Given the description of an element on the screen output the (x, y) to click on. 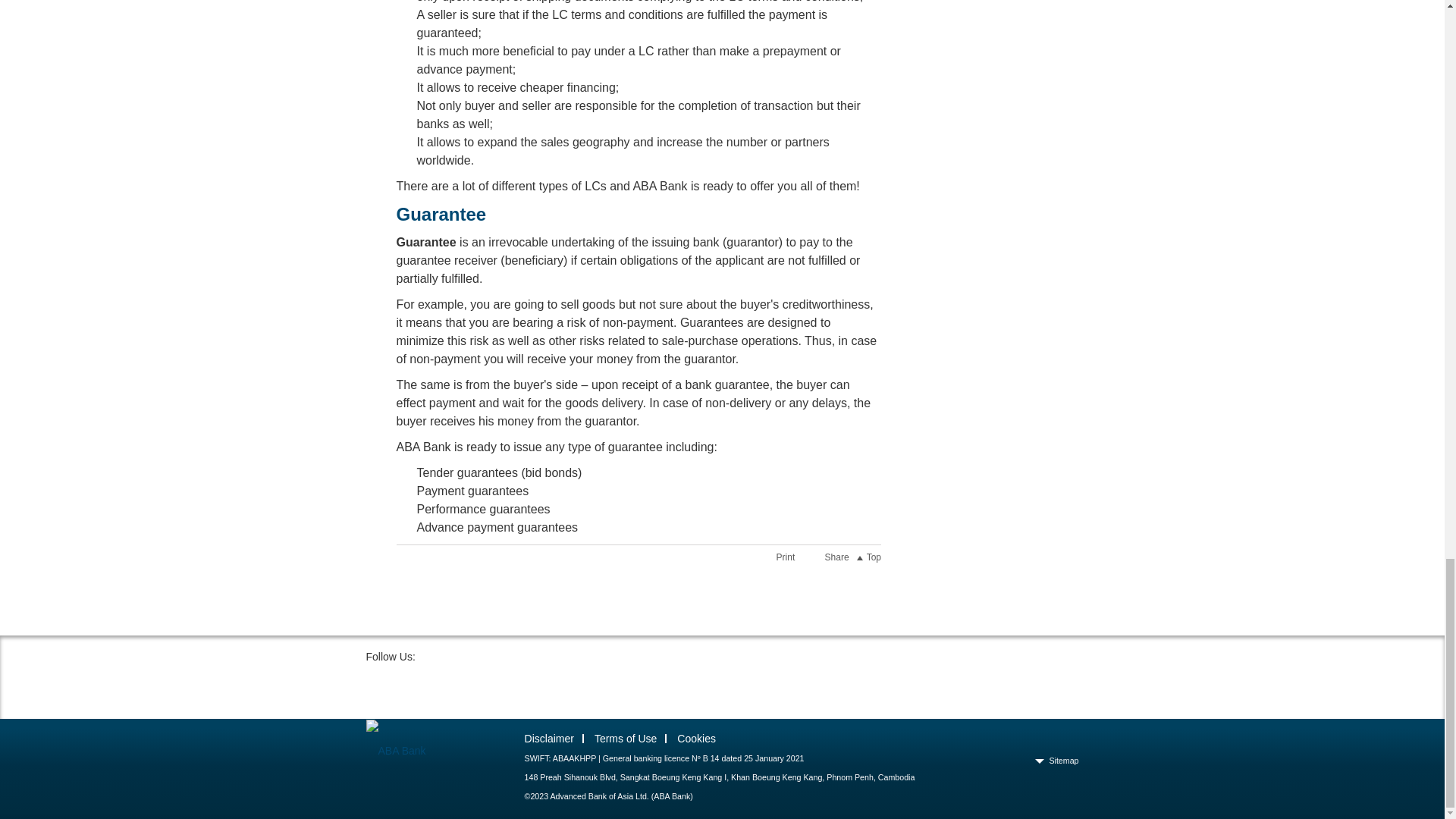
ABA Tiktok (425, 686)
ABA Youtube Channel (554, 686)
ABA Facebook (381, 686)
Print (774, 557)
Top (871, 557)
Share (825, 557)
ABA Instagram (467, 686)
ABA LinkedIn (511, 686)
